Given the description of an element on the screen output the (x, y) to click on. 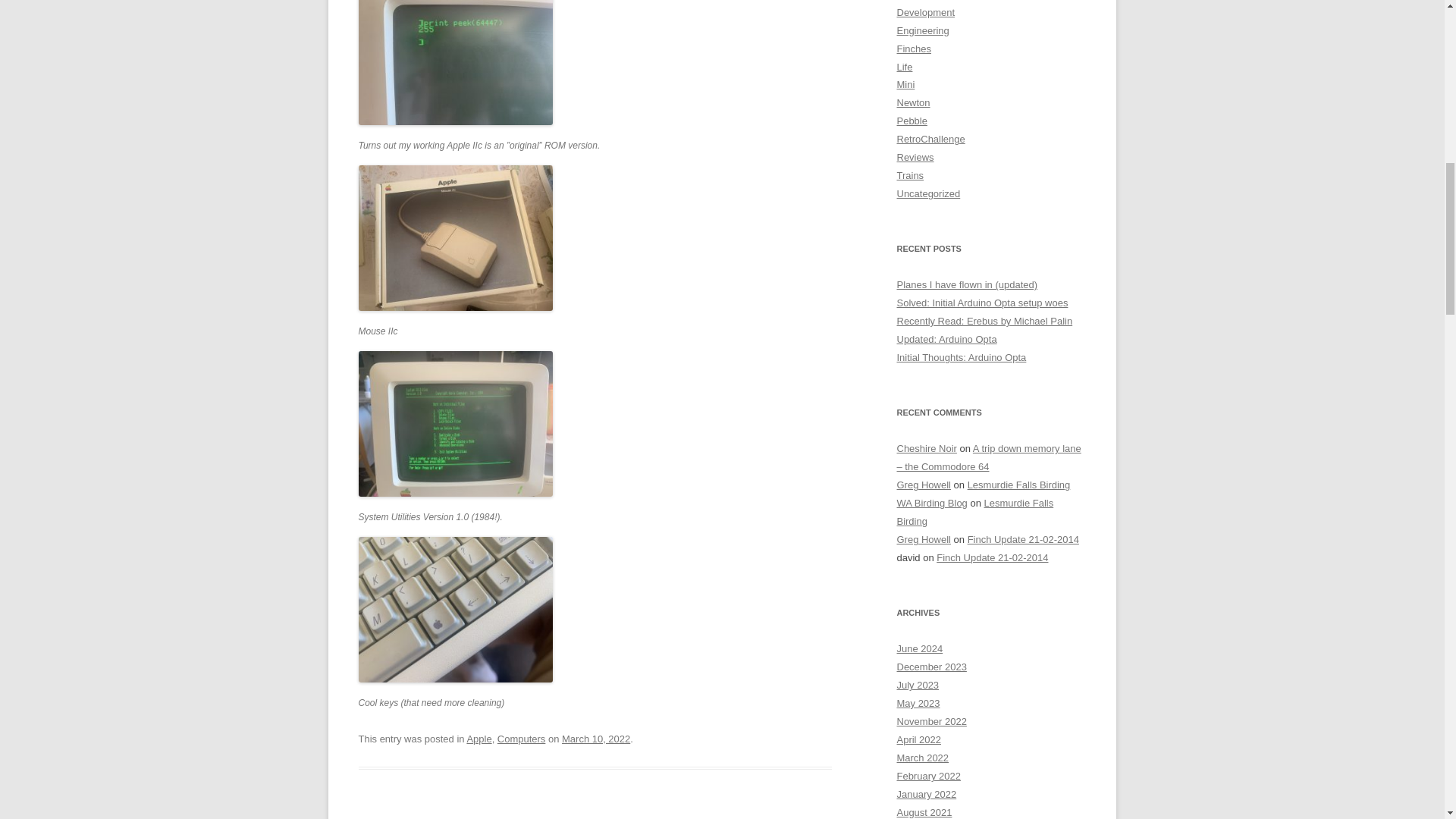
Computers (521, 738)
March 10, 2022 (596, 738)
7:24 pm (596, 738)
Apple (478, 738)
